Given the description of an element on the screen output the (x, y) to click on. 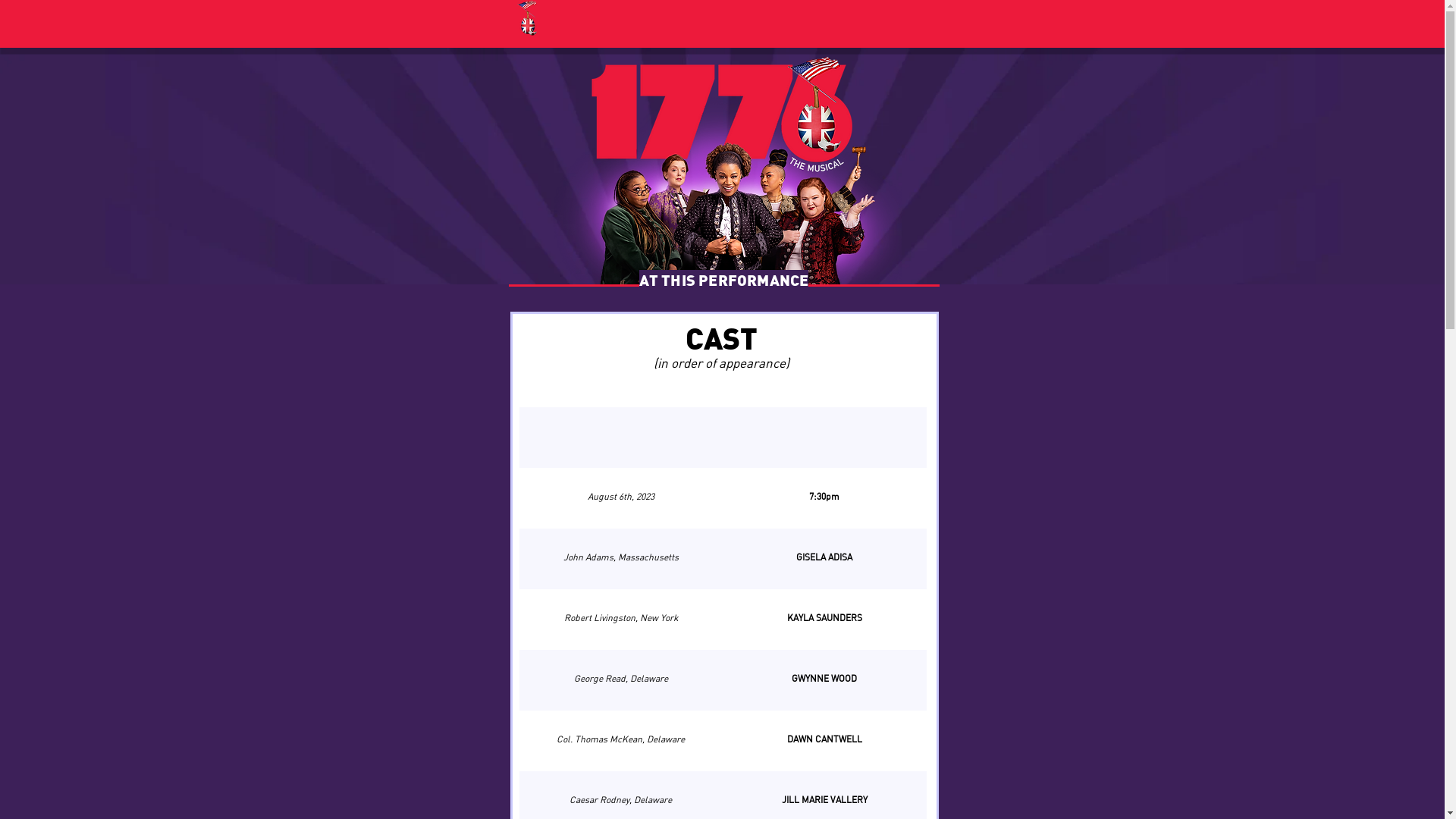
AT THIS PERFORMANCE Element type: text (724, 278)
